Given the description of an element on the screen output the (x, y) to click on. 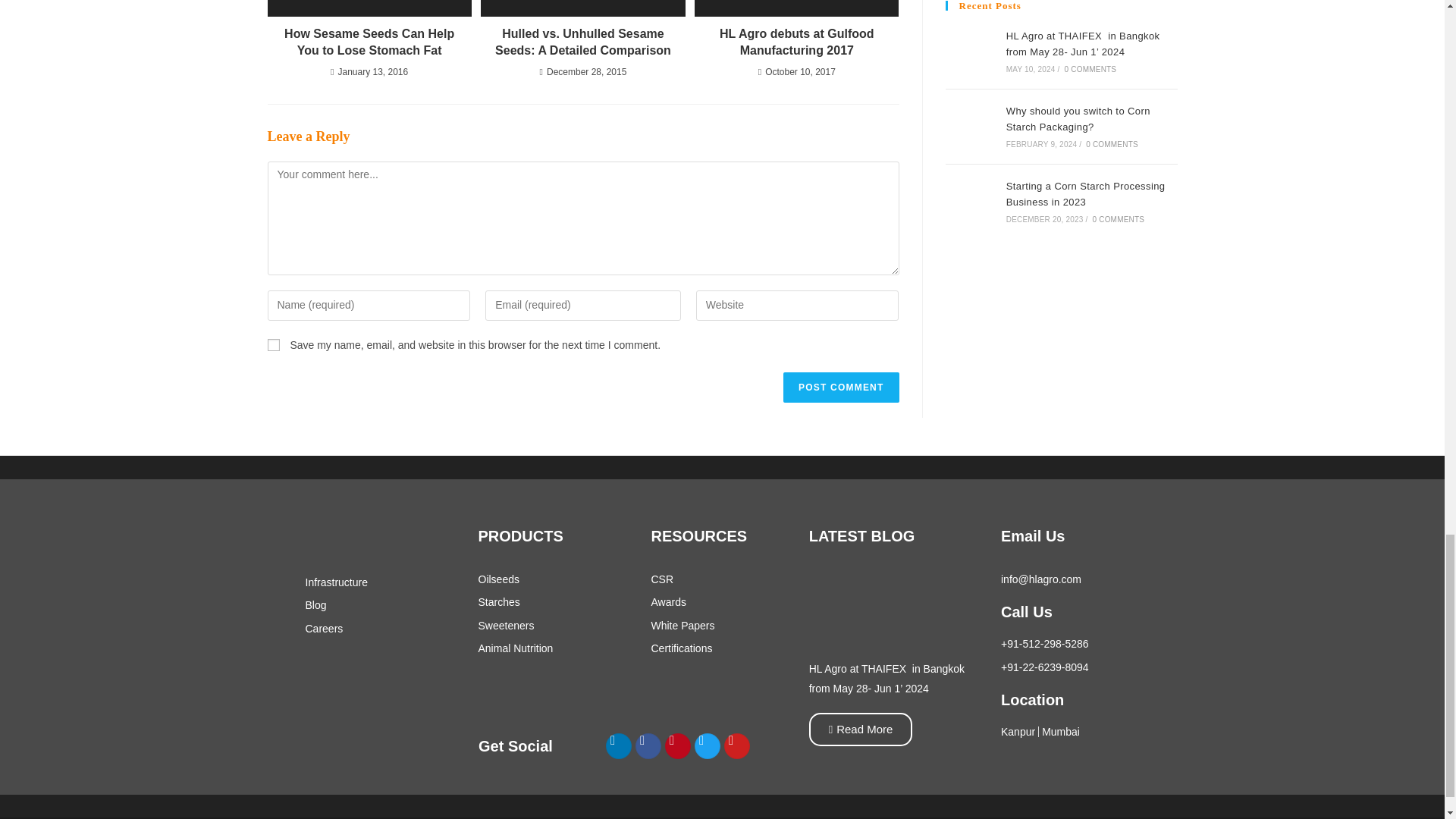
yes (272, 345)
Post Comment (840, 387)
Why should you switch to Corn Starch Packaging? (969, 126)
Starting a Corn Starch Processing Business in 2023 (969, 201)
